Given the description of an element on the screen output the (x, y) to click on. 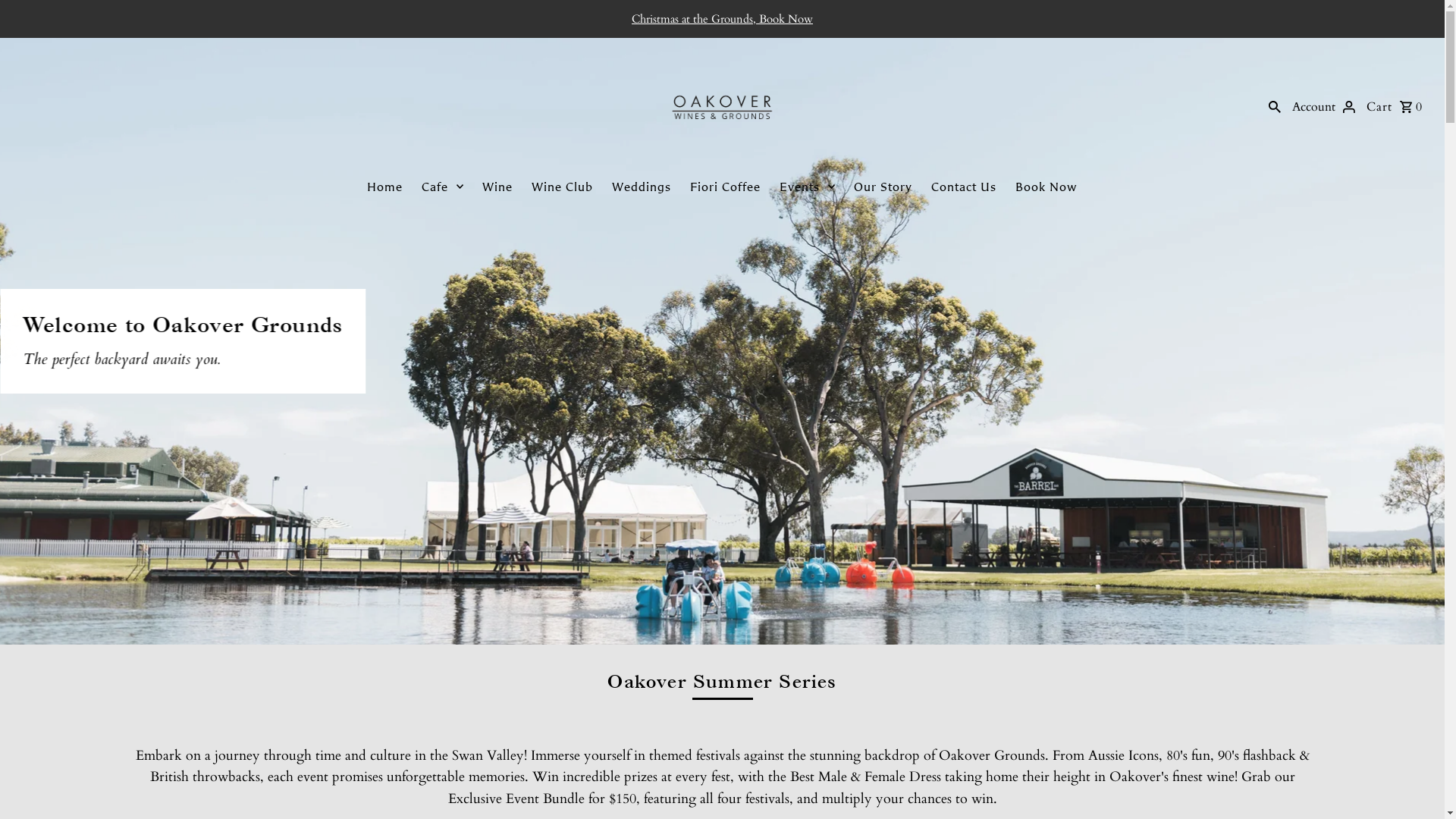
Events Element type: text (806, 186)
Christmas at the Grounds, Book Now Element type: text (721, 18)
Fiori Coffee Element type: text (725, 186)
Home Element type: text (384, 186)
Our Story Element type: text (882, 186)
Wine Club Element type: text (562, 186)
Weddings Element type: text (641, 186)
Wine Element type: text (497, 186)
Cafe Element type: text (442, 186)
Contact Us Element type: text (963, 186)
Book Now Element type: text (1046, 186)
